Given the description of an element on the screen output the (x, y) to click on. 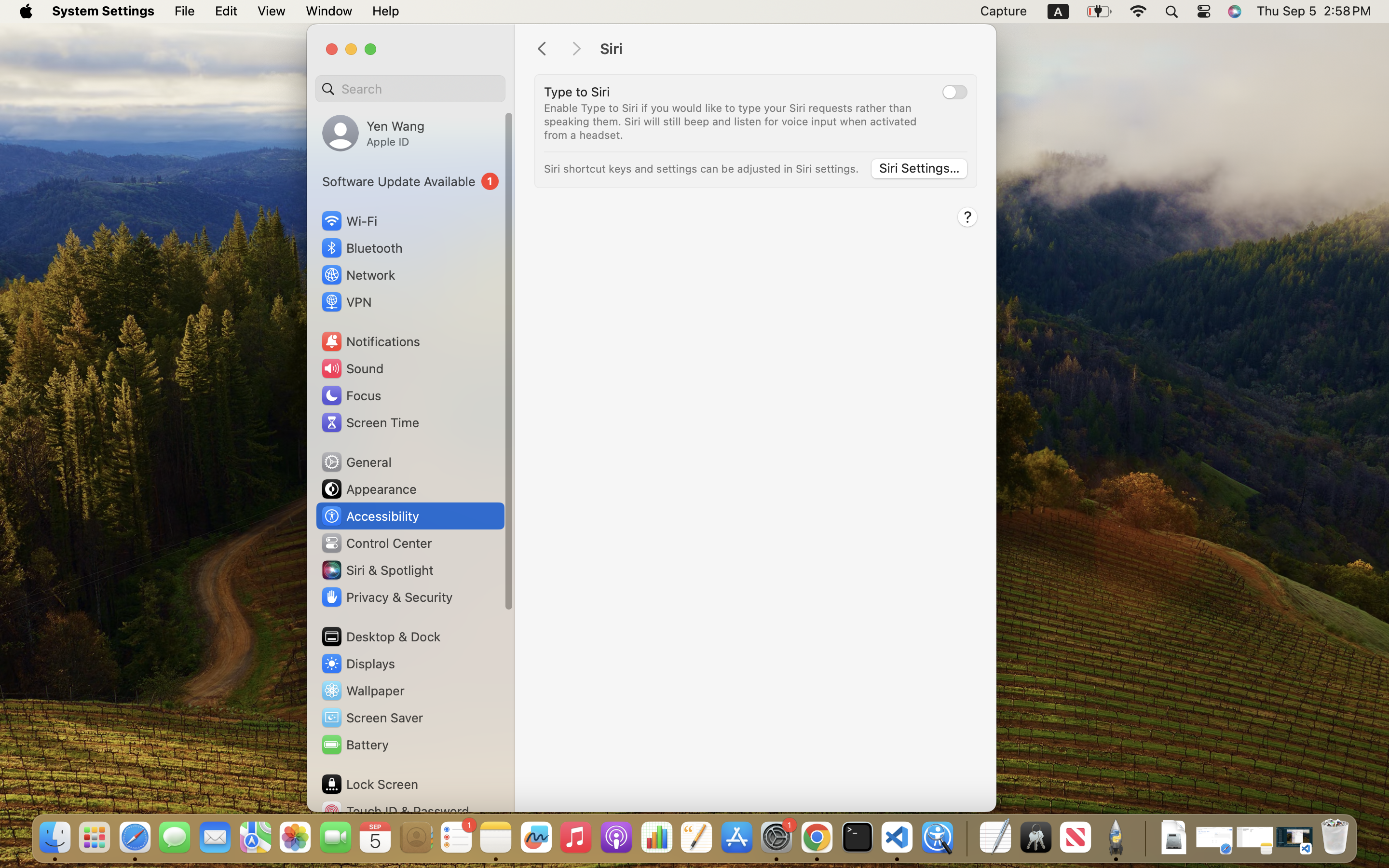
Network Element type: AXStaticText (357, 274)
Siri & Spotlight Element type: AXStaticText (376, 569)
0.4285714328289032 Element type: AXDockItem (965, 837)
Notifications Element type: AXStaticText (370, 340)
Control Center Element type: AXStaticText (376, 542)
